Given the description of an element on the screen output the (x, y) to click on. 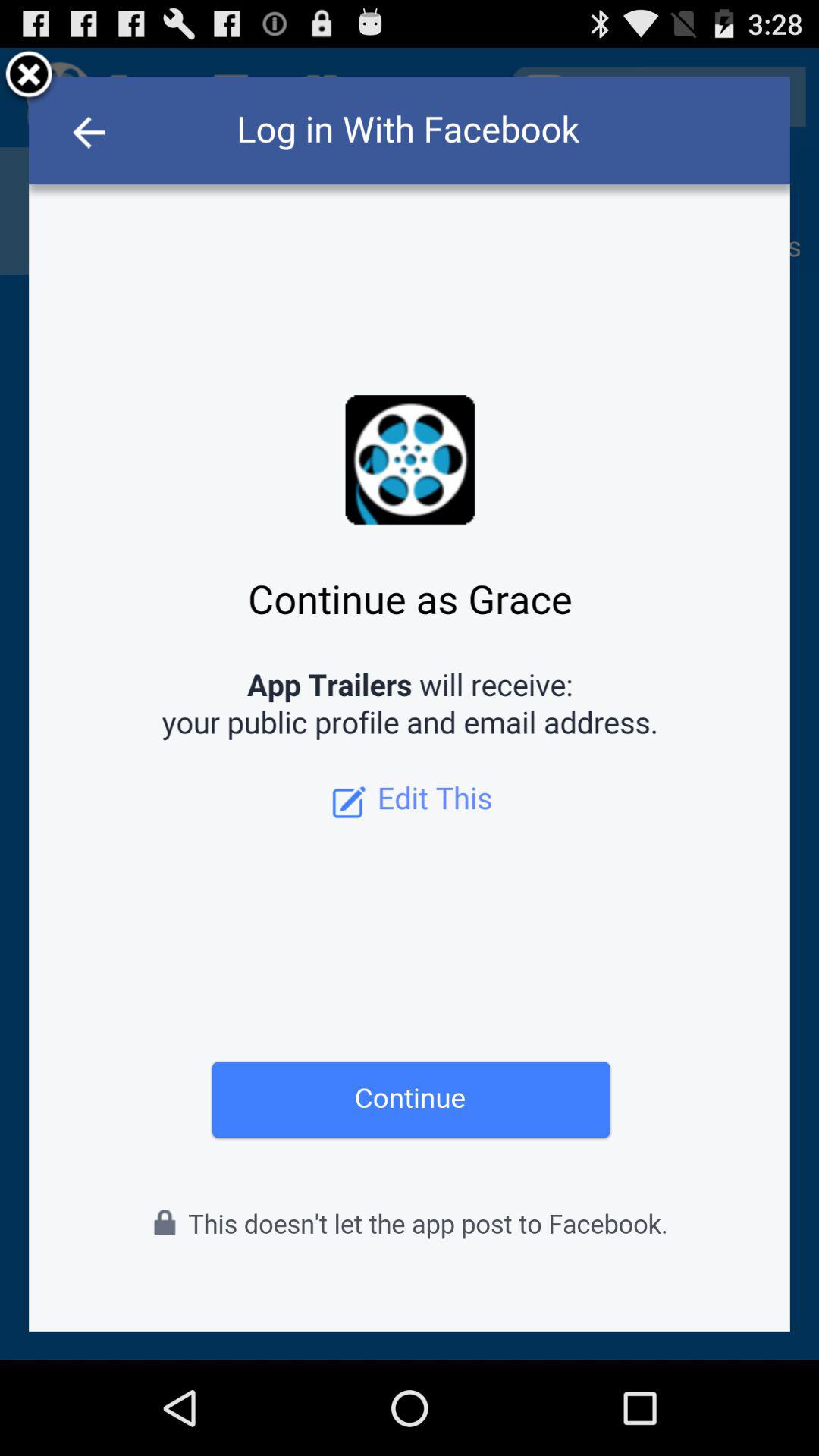
close (29, 76)
